Given the description of an element on the screen output the (x, y) to click on. 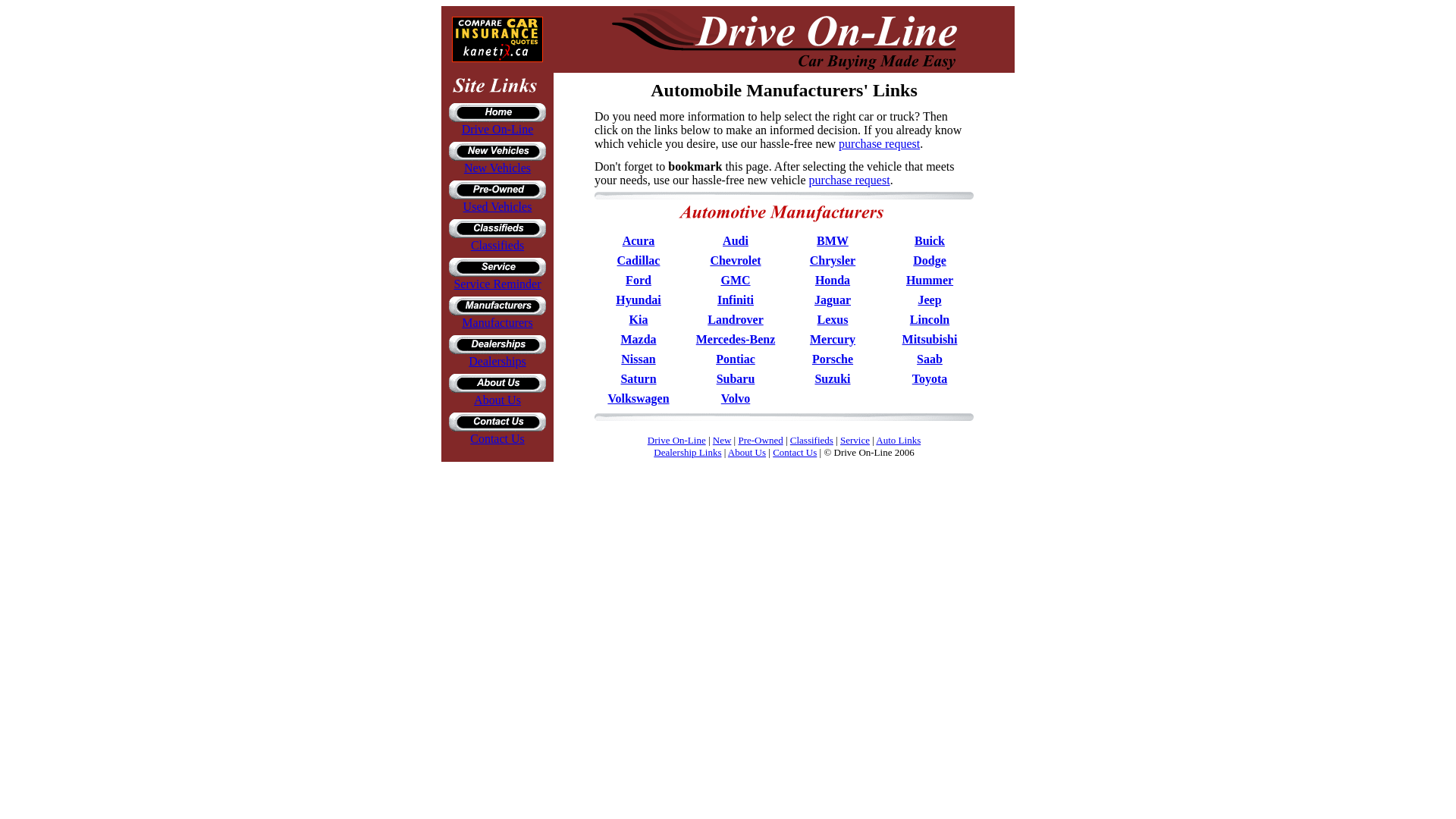
Dodge (929, 259)
Jaguar (831, 299)
purchase request (849, 179)
Chevrolet (735, 259)
Buick (929, 240)
Ford (638, 279)
Drive On-Line (497, 128)
Service Reminder (496, 283)
Contact Us (497, 438)
Infiniti (735, 299)
